Given the description of an element on the screen output the (x, y) to click on. 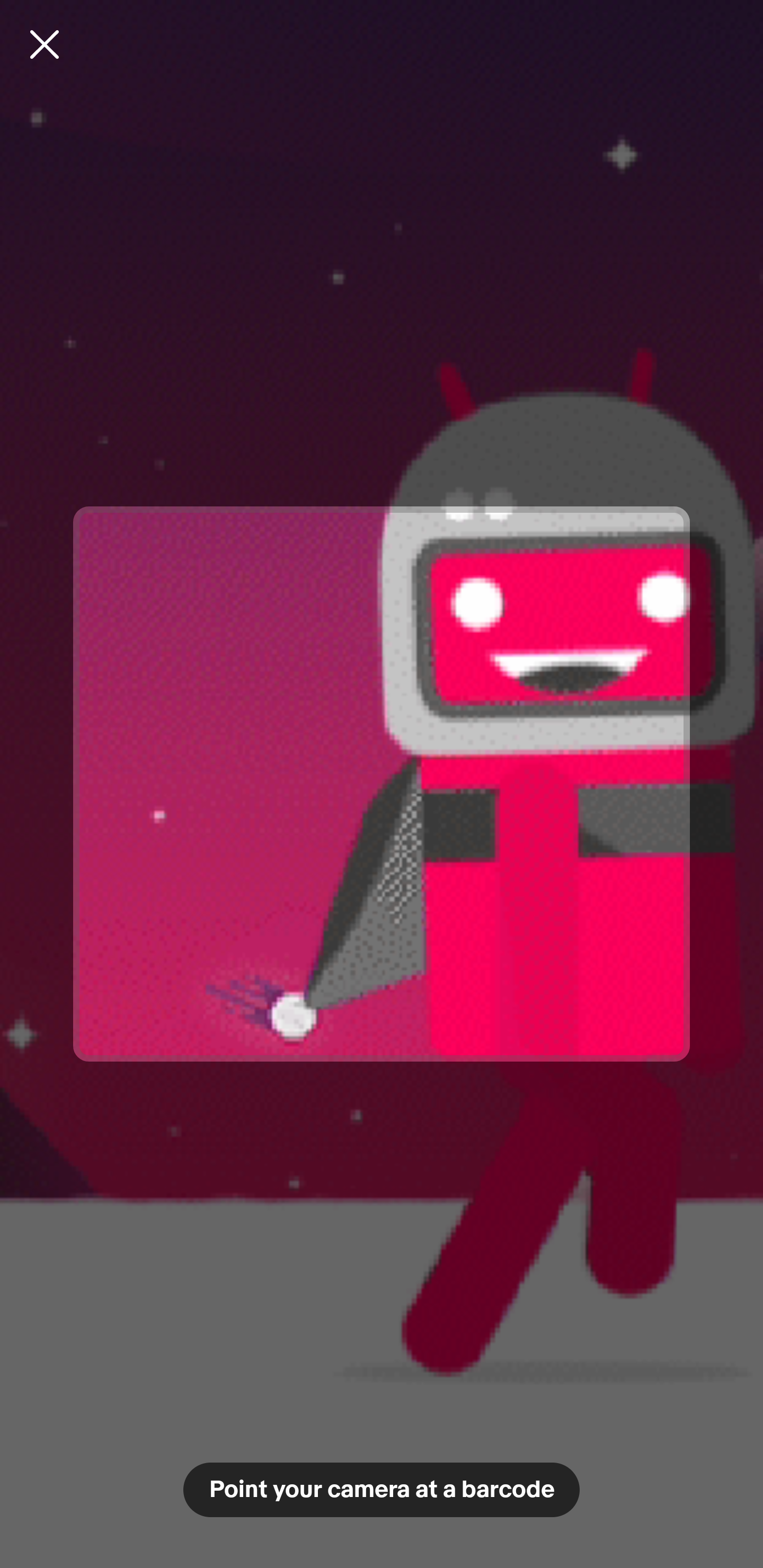
Close (44, 44)
